Given the description of an element on the screen output the (x, y) to click on. 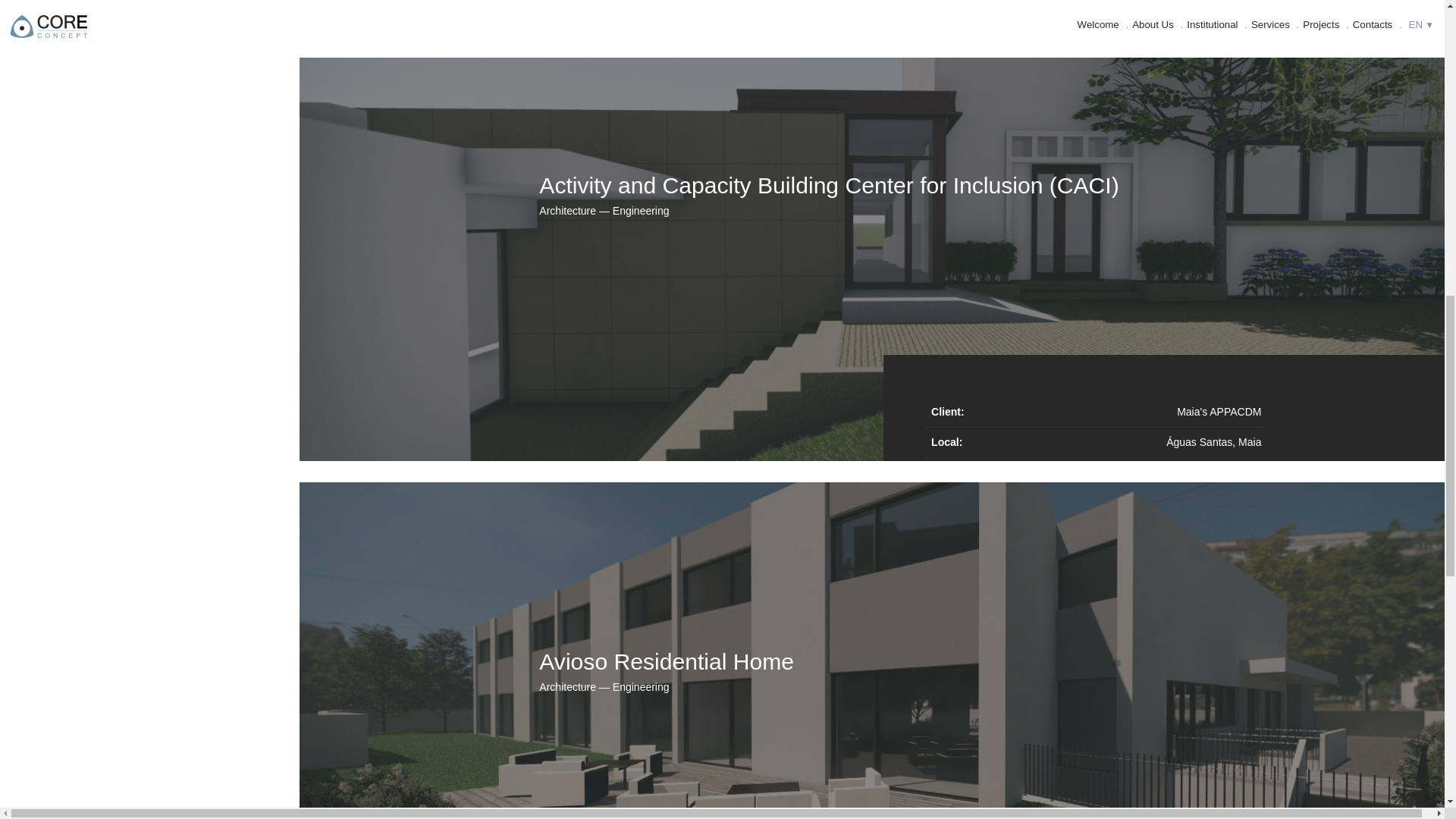
Avioso Residential Home (665, 661)
